Given the description of an element on the screen output the (x, y) to click on. 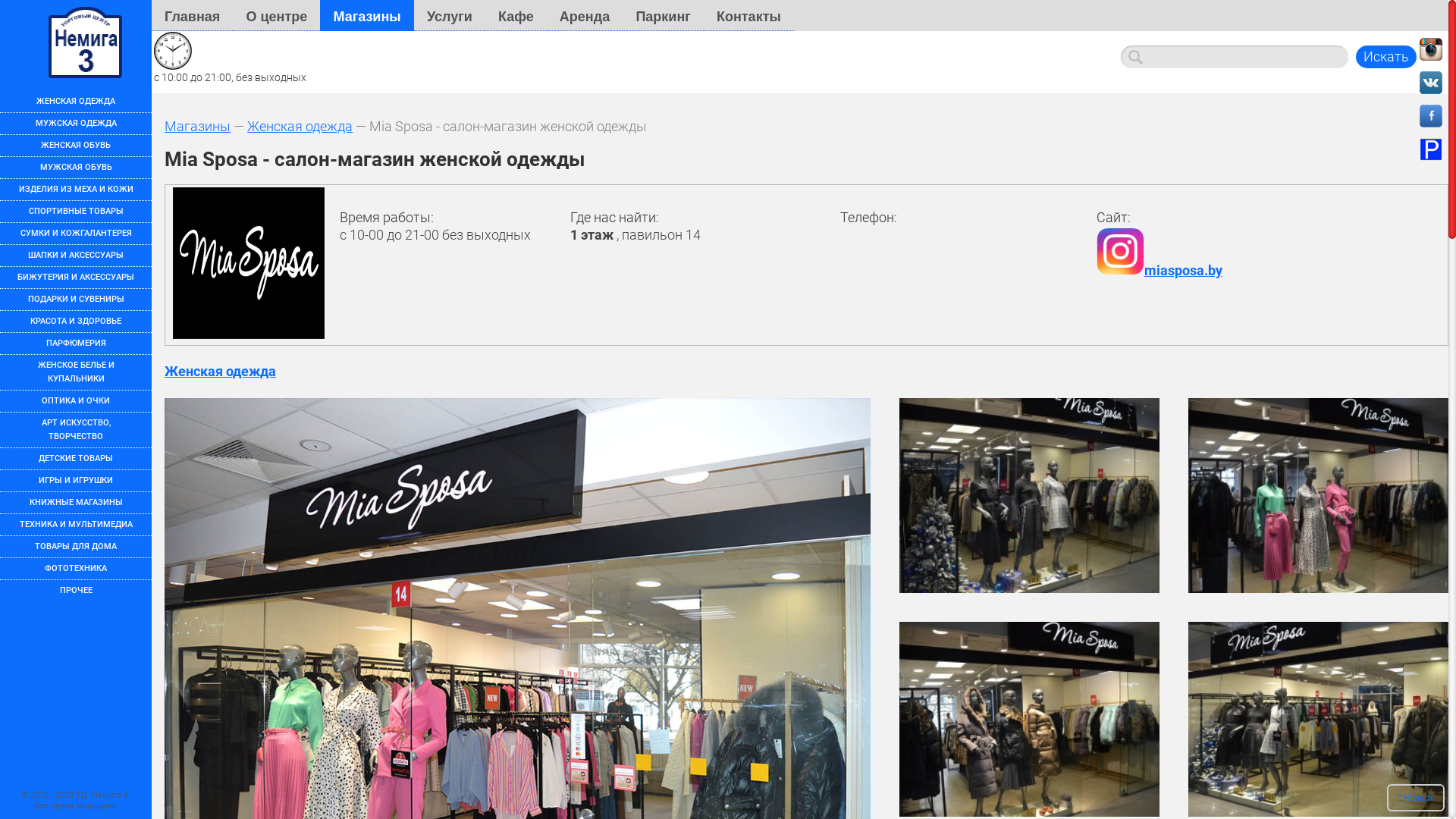
miasposa.by Element type: text (1159, 270)
Mia Sposa Element type: hover (248, 262)
